Given the description of an element on the screen output the (x, y) to click on. 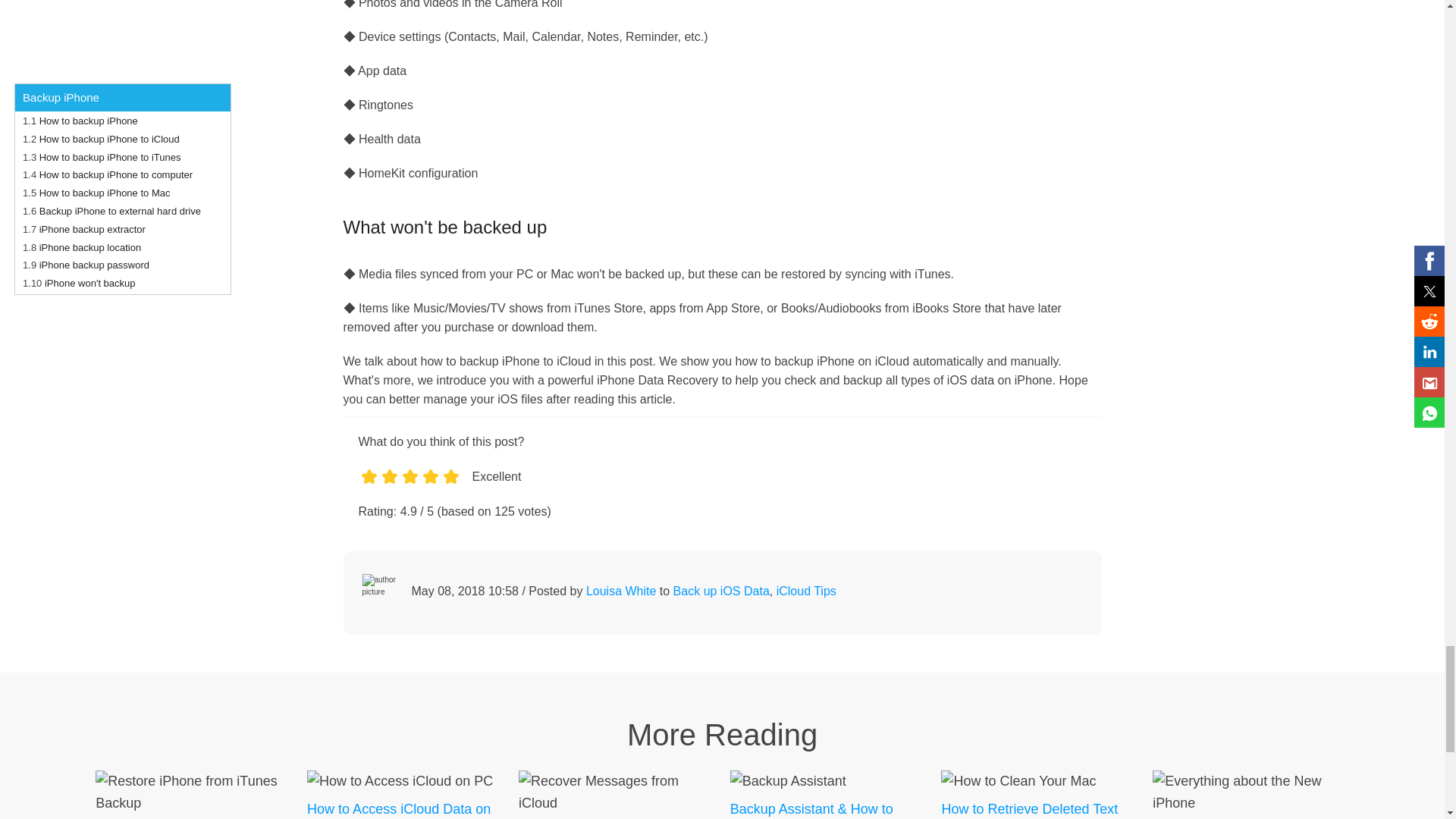
2 (388, 492)
4 (430, 492)
1 (368, 492)
3 (408, 492)
